Given the description of an element on the screen output the (x, y) to click on. 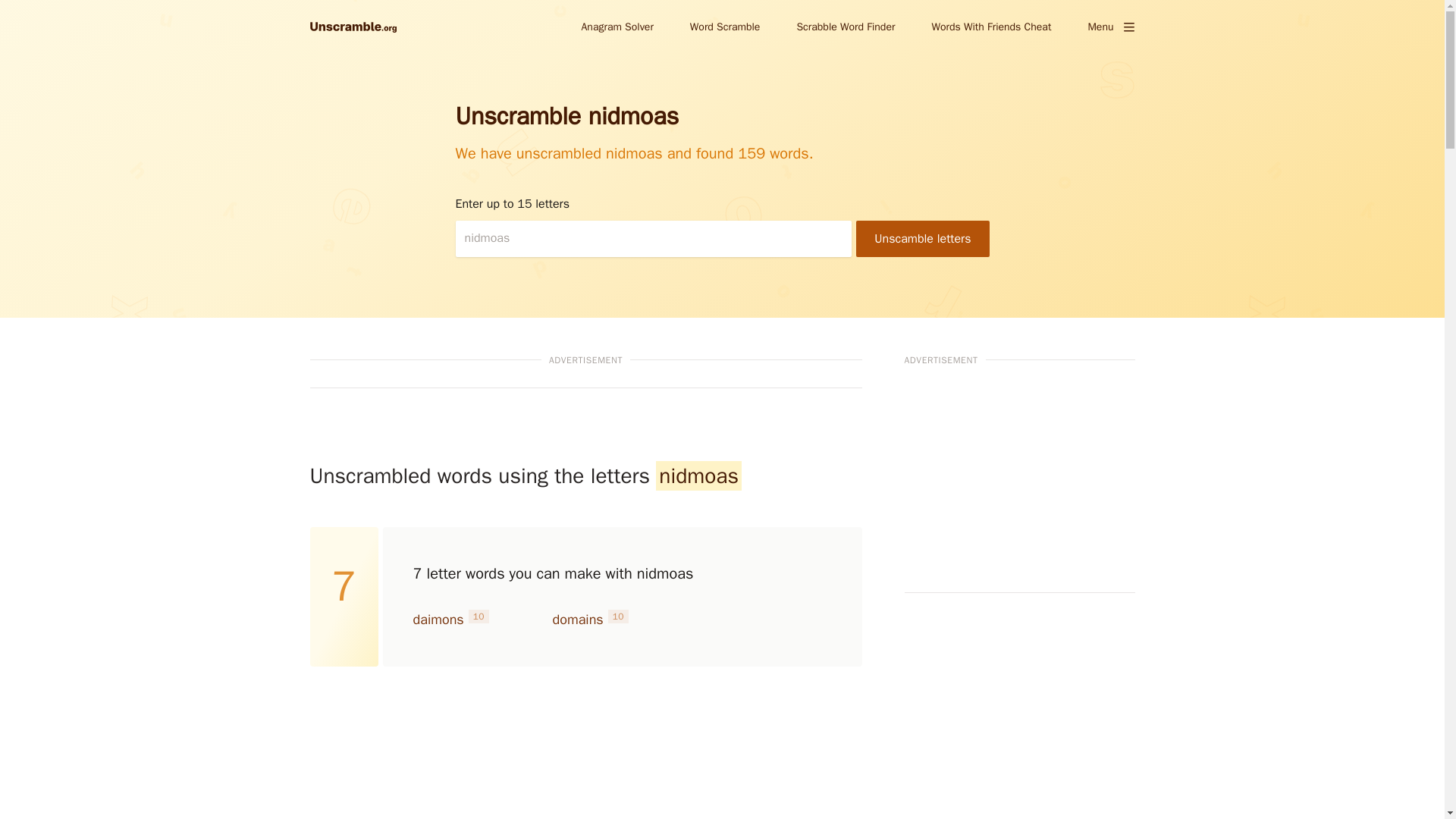
Word Scramble (725, 26)
Scrabble Word Finder (845, 26)
Words With Friends Cheat (990, 26)
Anagram Solver (617, 26)
domains (576, 619)
Unscramble.org (351, 26)
Unscamble letters (922, 238)
Latin characters only, 2-15 letters. (652, 238)
daimons (437, 619)
Menu (1110, 26)
